Given the description of an element on the screen output the (x, y) to click on. 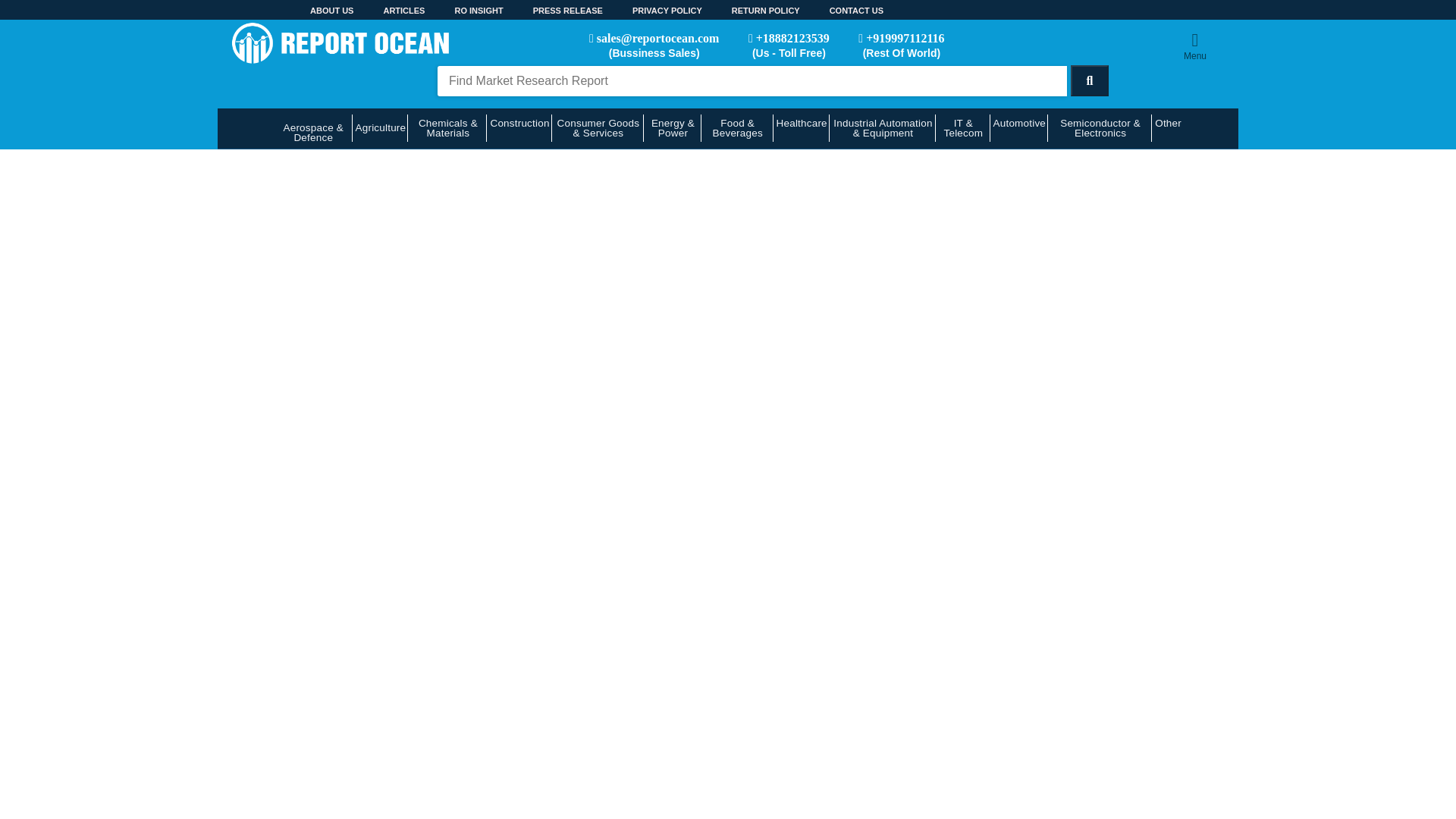
ARTICLES (389, 10)
ABOUT US (317, 10)
RETURN POLICY (750, 10)
RO INSIGHT (463, 10)
Healthcare (801, 128)
PRESS RELEASE (552, 10)
Automotive (1019, 128)
PRIVACY POLICY (651, 10)
CONTACT US (841, 10)
Construction (518, 128)
